Given the description of an element on the screen output the (x, y) to click on. 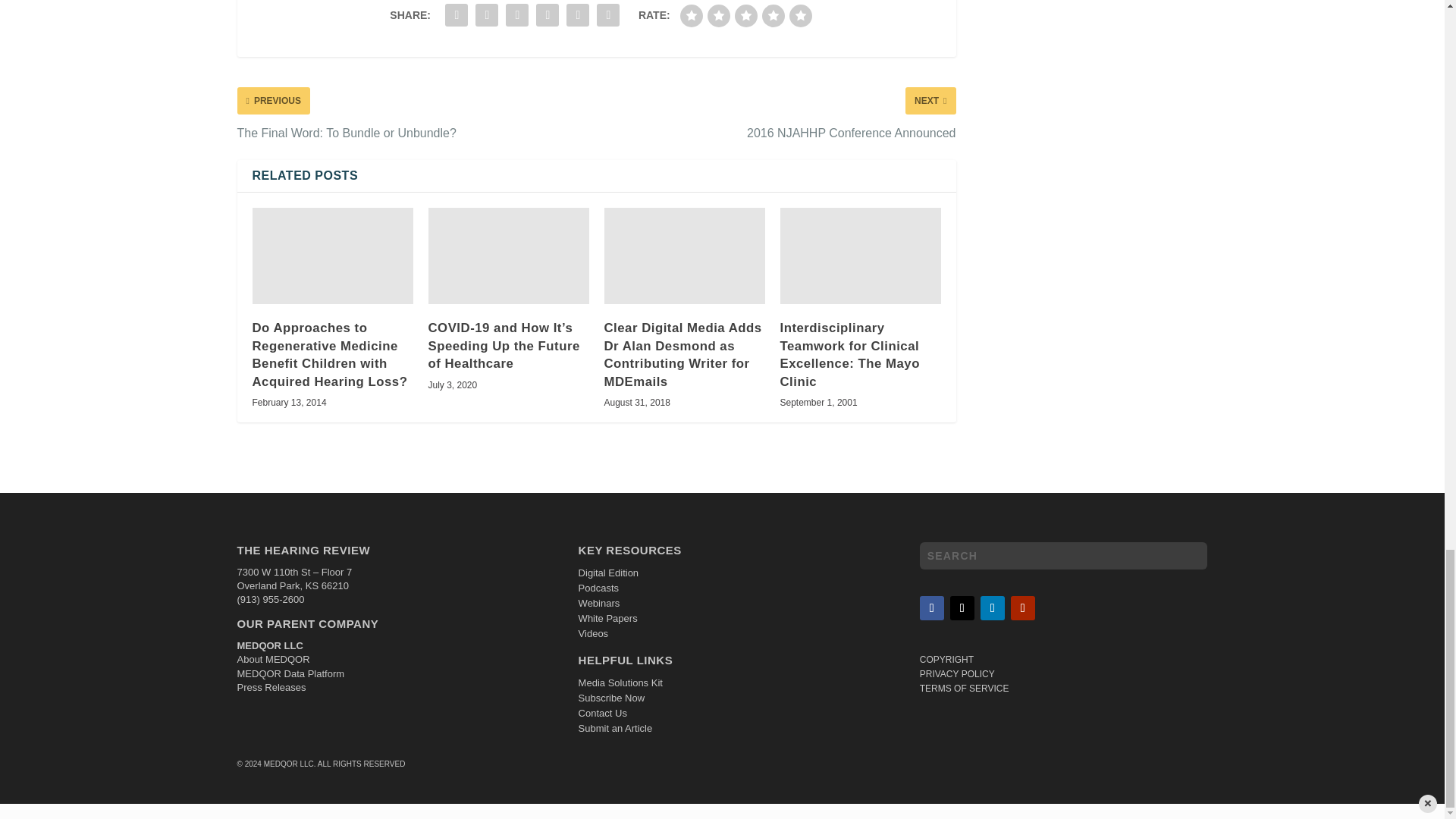
bad (691, 15)
